Given the description of an element on the screen output the (x, y) to click on. 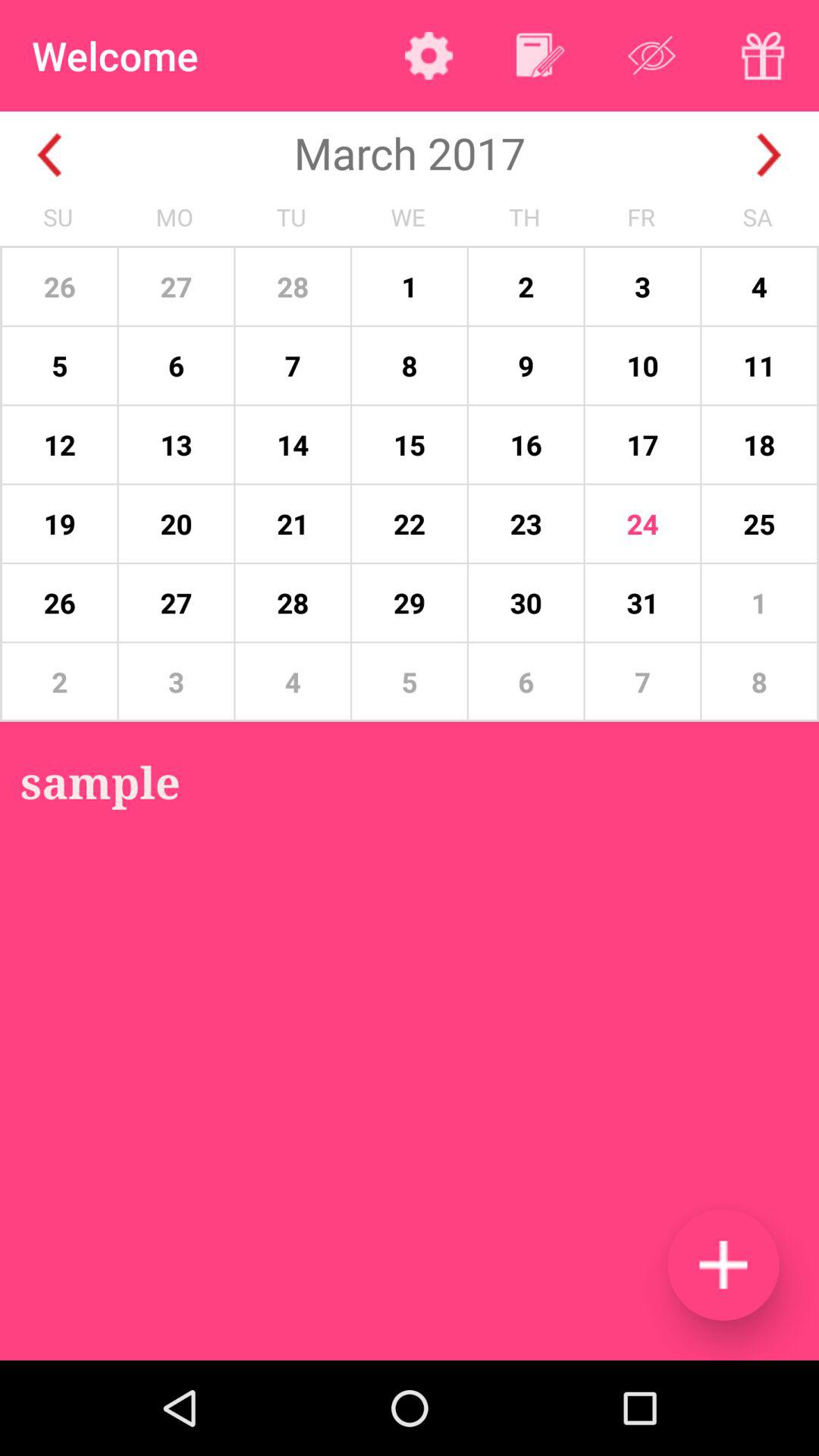
scroll until the sample icon (100, 781)
